Given the description of an element on the screen output the (x, y) to click on. 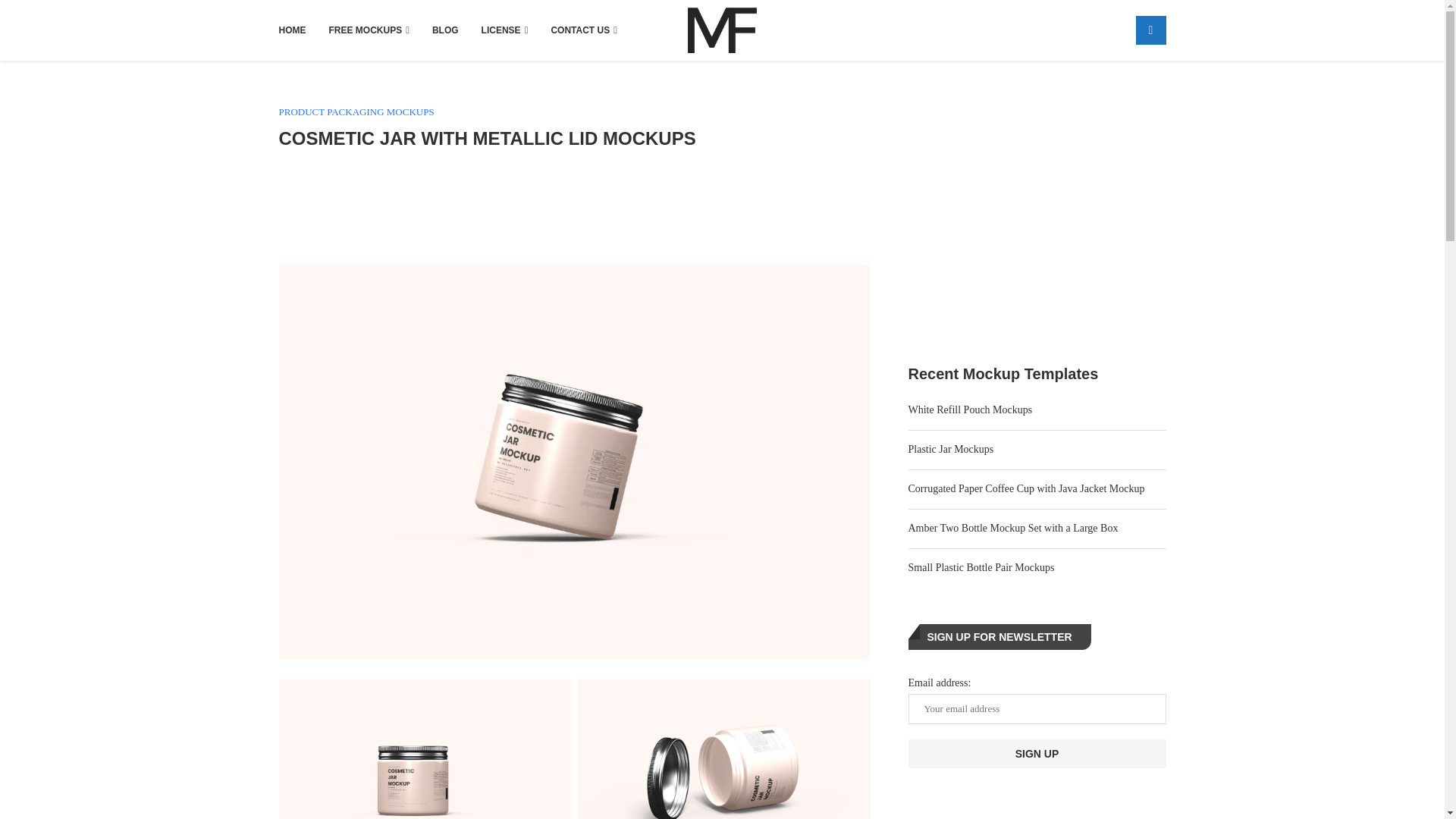
CONTACT US (583, 30)
Advertisement (574, 204)
LICENSE (504, 30)
Sign up (1037, 753)
FREE MOCKUPS (369, 30)
